Given the description of an element on the screen output the (x, y) to click on. 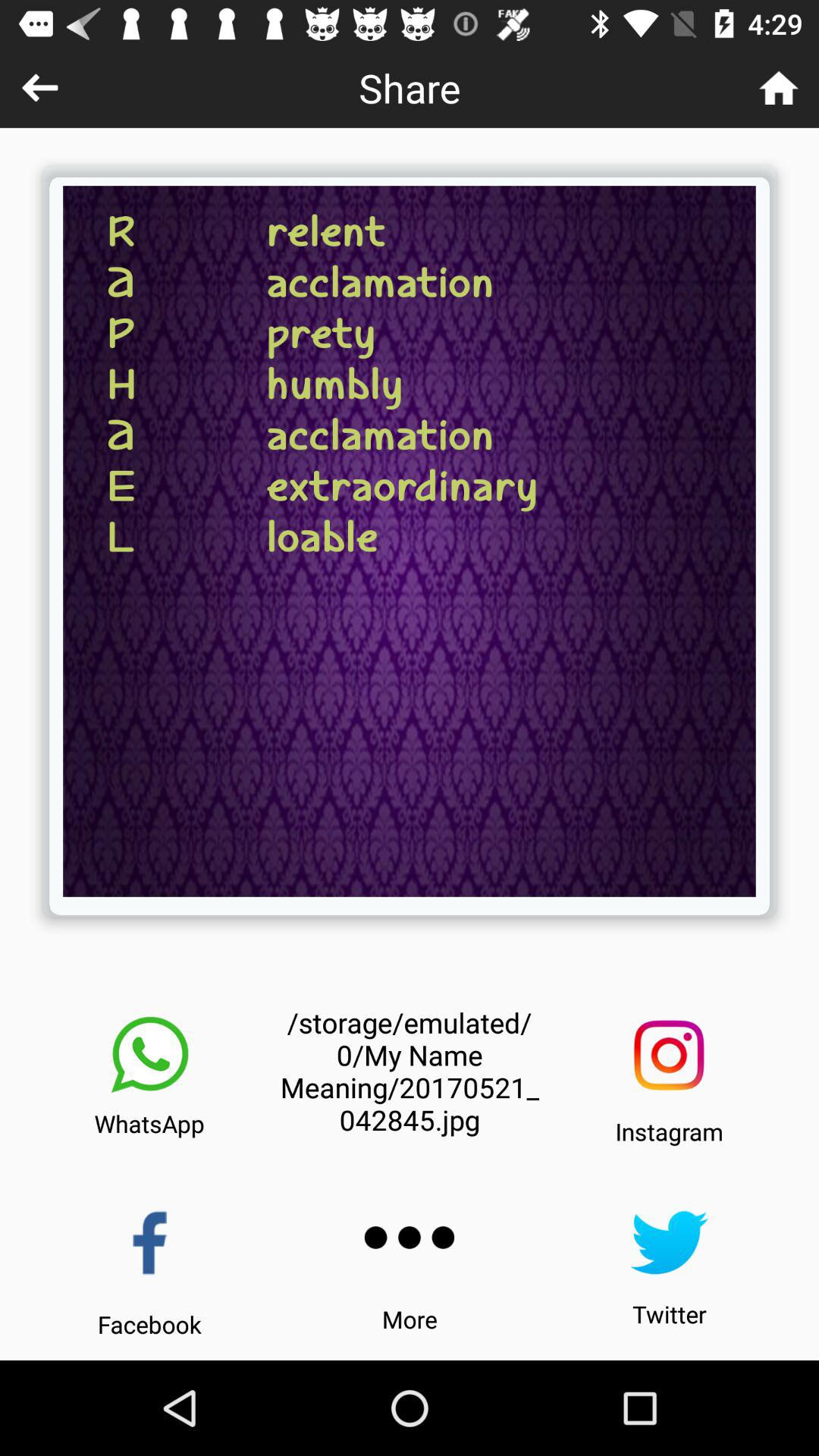
tap the item next to the share item (778, 87)
